Given the description of an element on the screen output the (x, y) to click on. 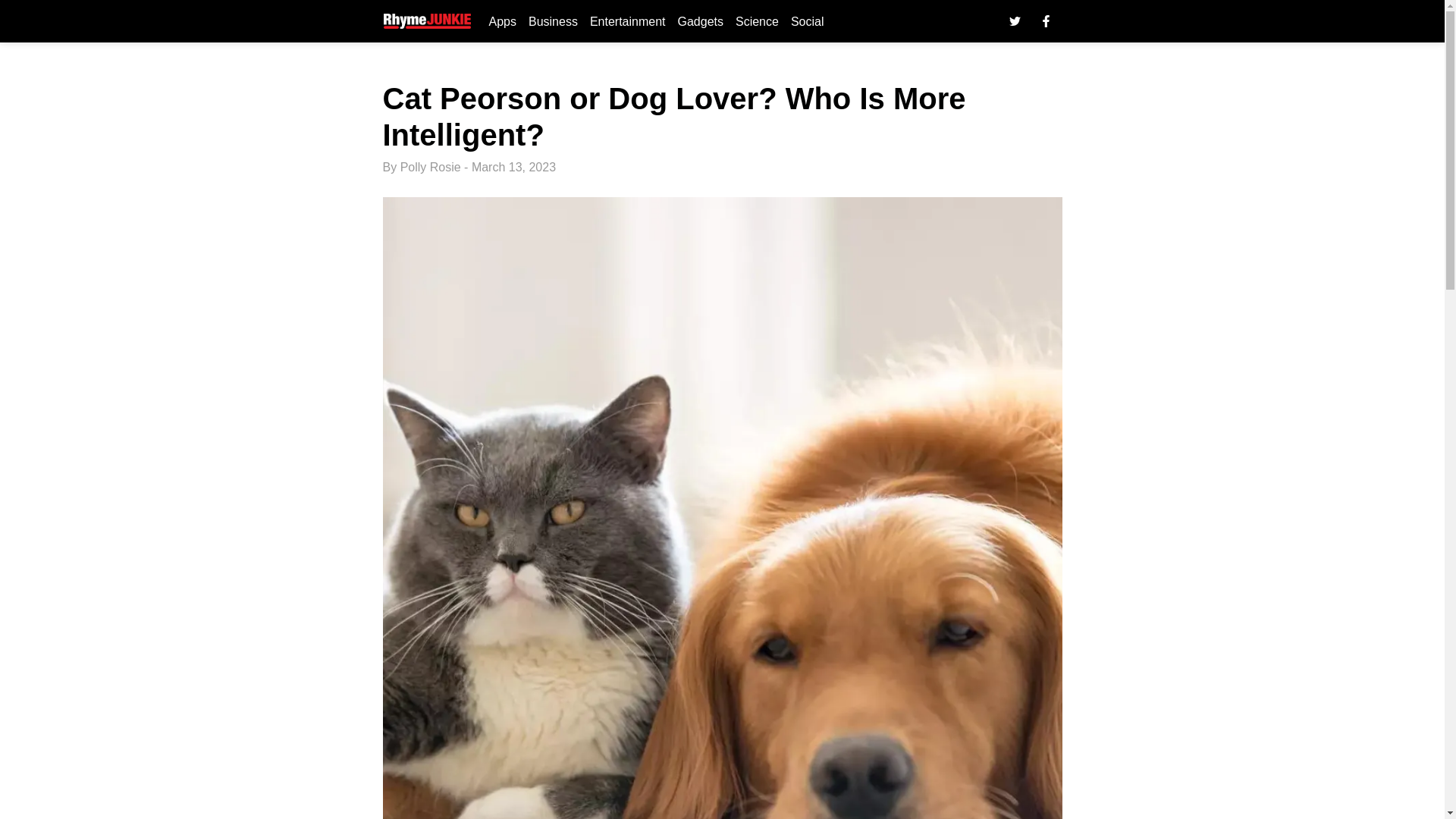
Apps (501, 21)
Science (756, 21)
Social (806, 21)
Apps (501, 21)
Entertainment (627, 21)
Business (552, 21)
Science (756, 21)
Entertainment (627, 21)
Social (806, 21)
Gadgets (700, 21)
